Given the description of an element on the screen output the (x, y) to click on. 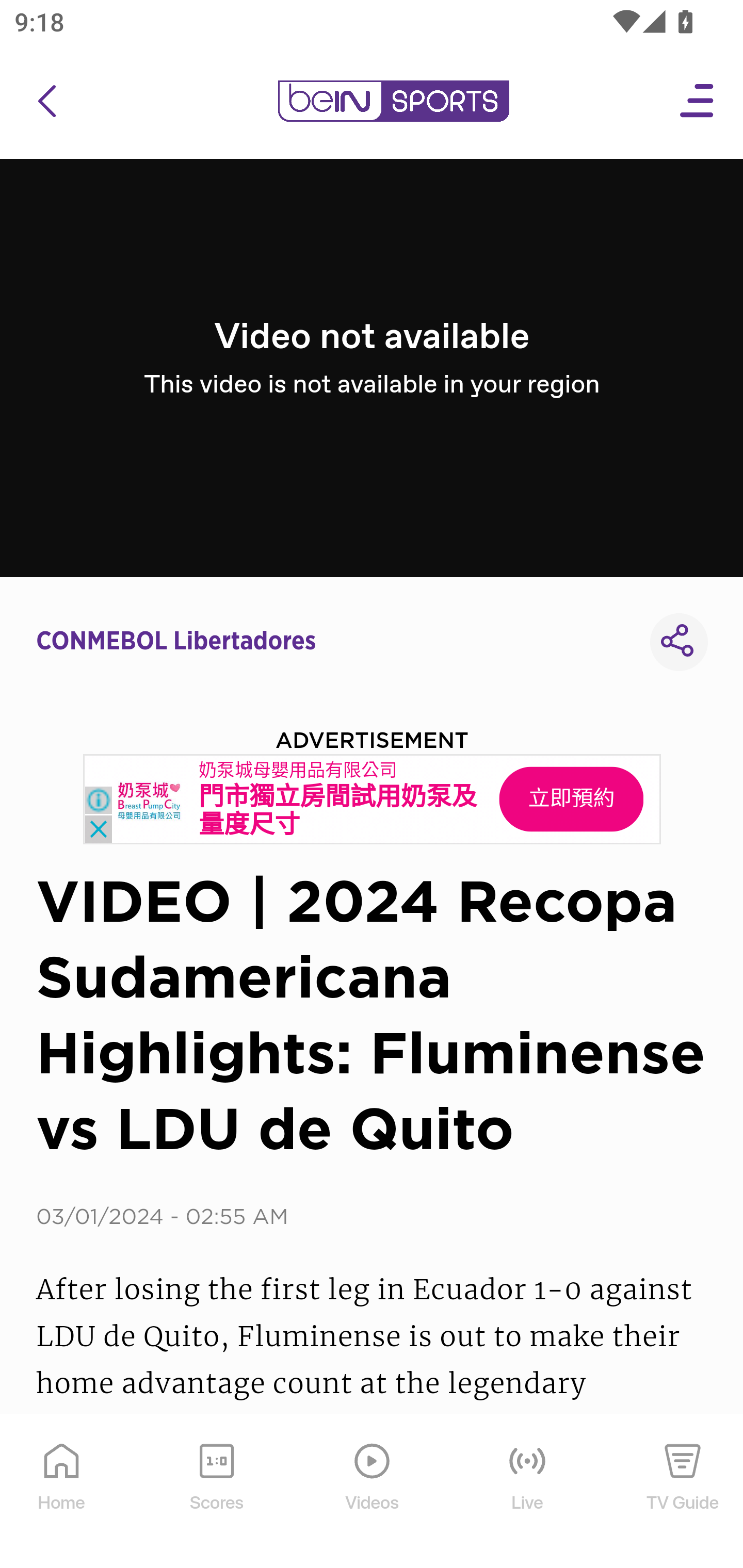
en-us?platform=mobile_android bein logo (392, 101)
icon back (46, 101)
Open Menu Icon (697, 101)
奶泵城母嬰用品有限公司 (298, 769)
立即預約 (571, 799)
門市獨立房間試用奶泵及 量度尺寸 門市獨立房間試用奶泵及 量度尺寸 (338, 811)
Home Home Icon Home (61, 1491)
Scores Scores Icon Scores (216, 1491)
Videos Videos Icon Videos (372, 1491)
TV Guide TV Guide Icon TV Guide (682, 1491)
